Given the description of an element on the screen output the (x, y) to click on. 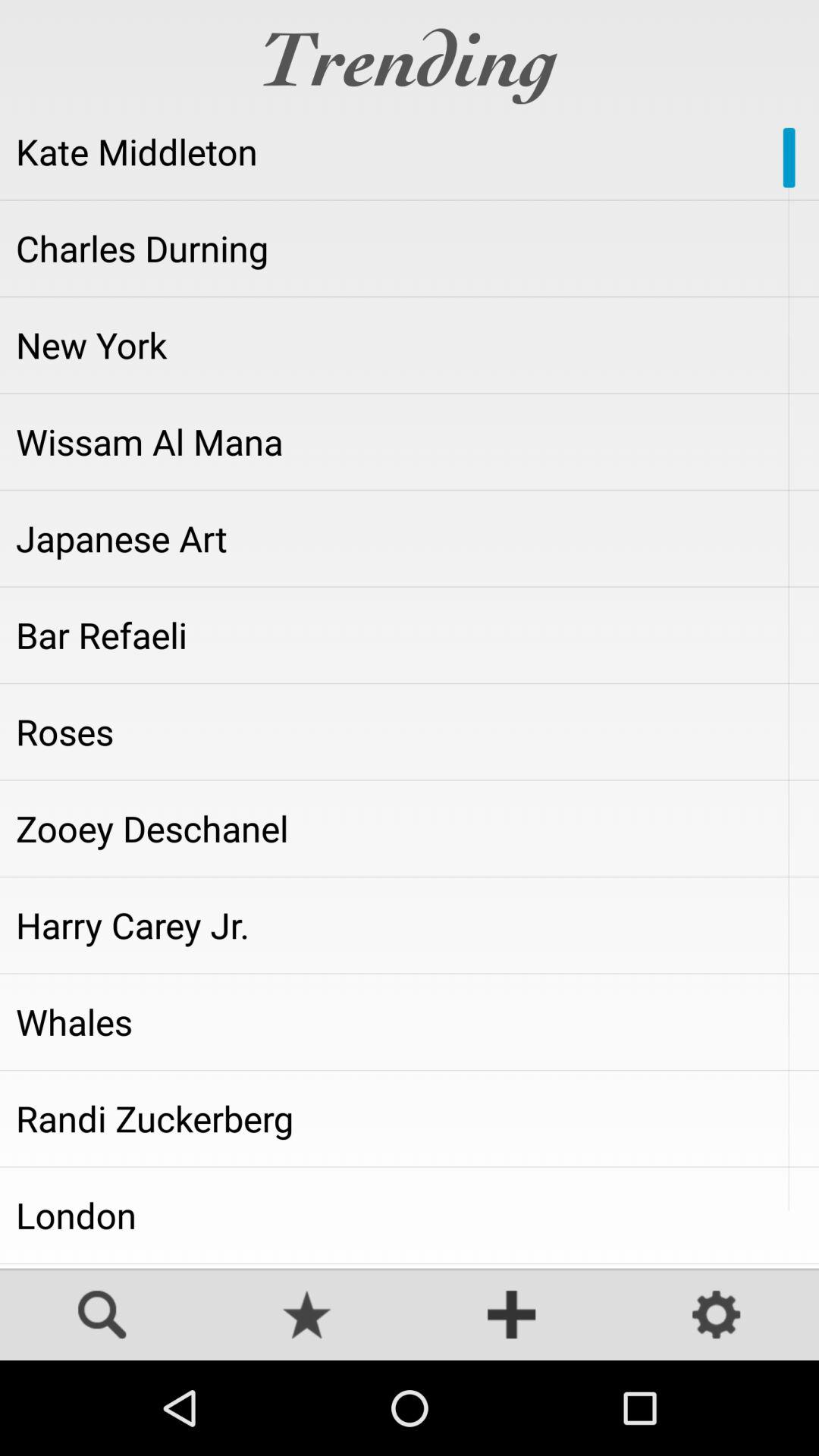
search (102, 1316)
